Given the description of an element on the screen output the (x, y) to click on. 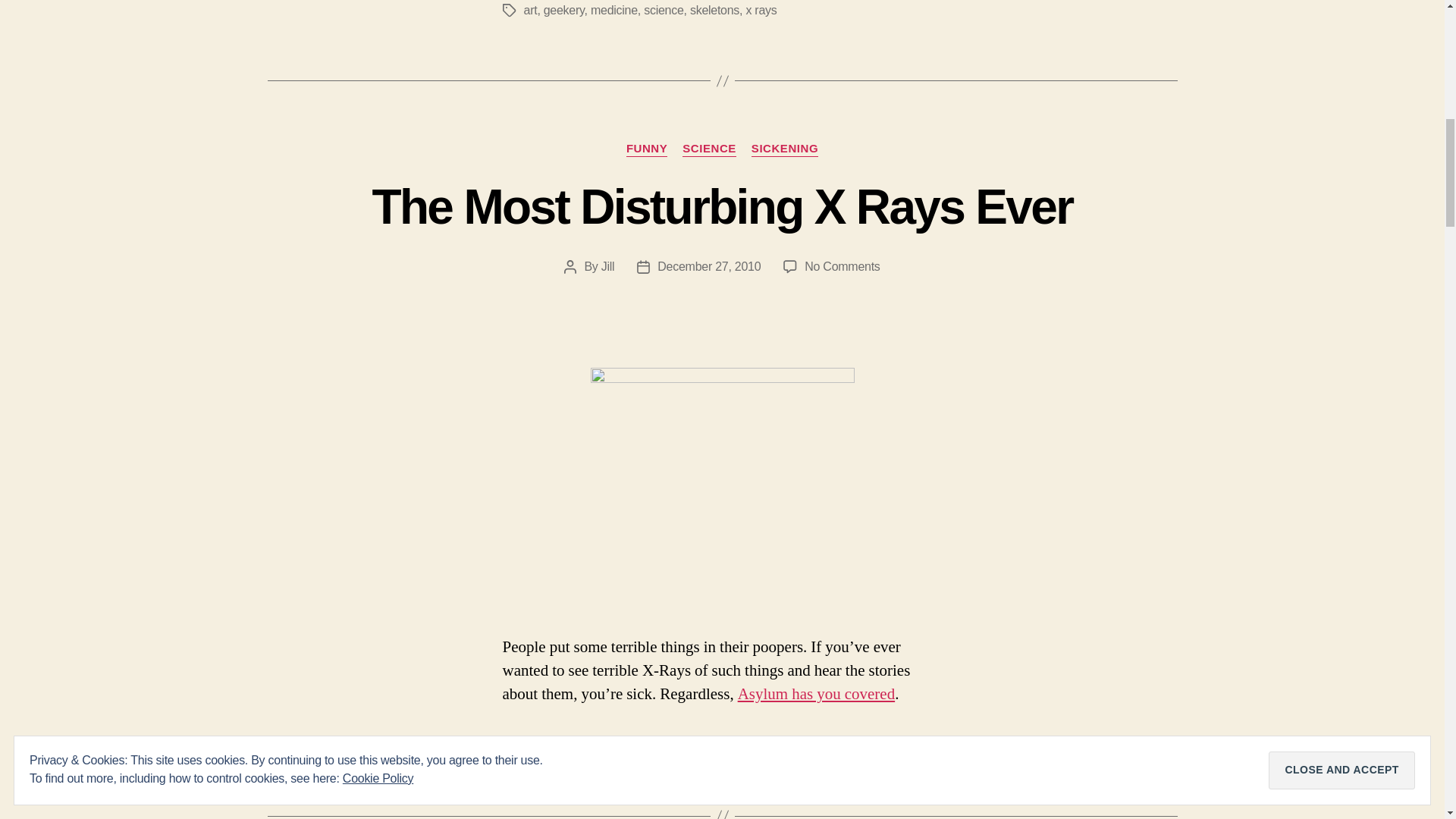
x rays (760, 10)
medicine (614, 10)
Jill (607, 266)
SICKENING (784, 149)
butts (535, 745)
disgusting (580, 745)
science (662, 10)
picture-9-1292520871 (721, 486)
art (529, 10)
FUNNY (646, 149)
